Given the description of an element on the screen output the (x, y) to click on. 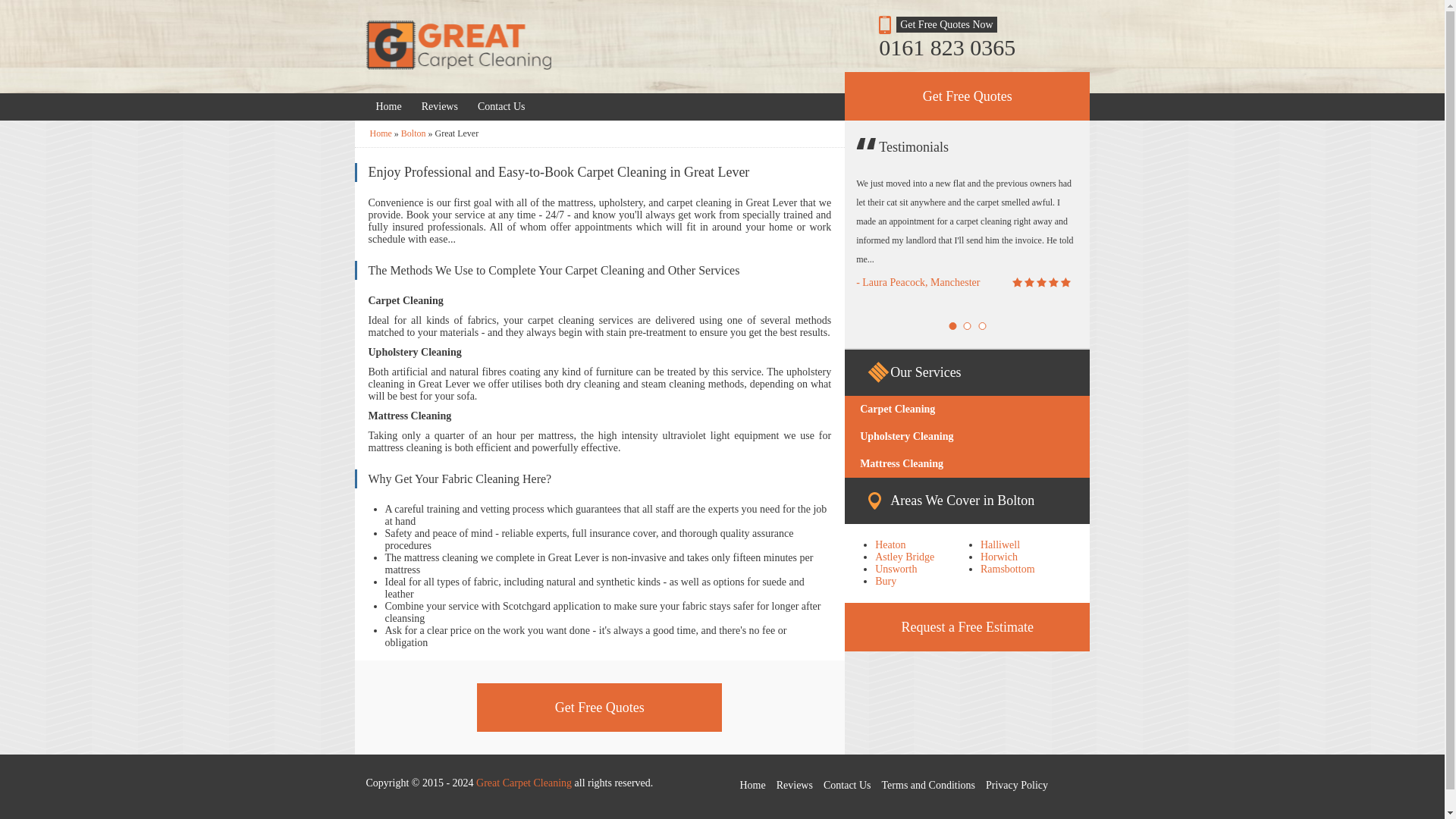
Mattress Cleaning (966, 463)
Upholstery Cleaning (966, 436)
0161 823 0365 (967, 47)
Ramsbottom (1007, 568)
Request a Free Estimate (966, 626)
Get Free Quotes Today (501, 106)
Great Carpet CleaningBolton (412, 132)
Get Free Quotes (599, 707)
Reviews (439, 106)
Call Us Now (967, 47)
